Given the description of an element on the screen output the (x, y) to click on. 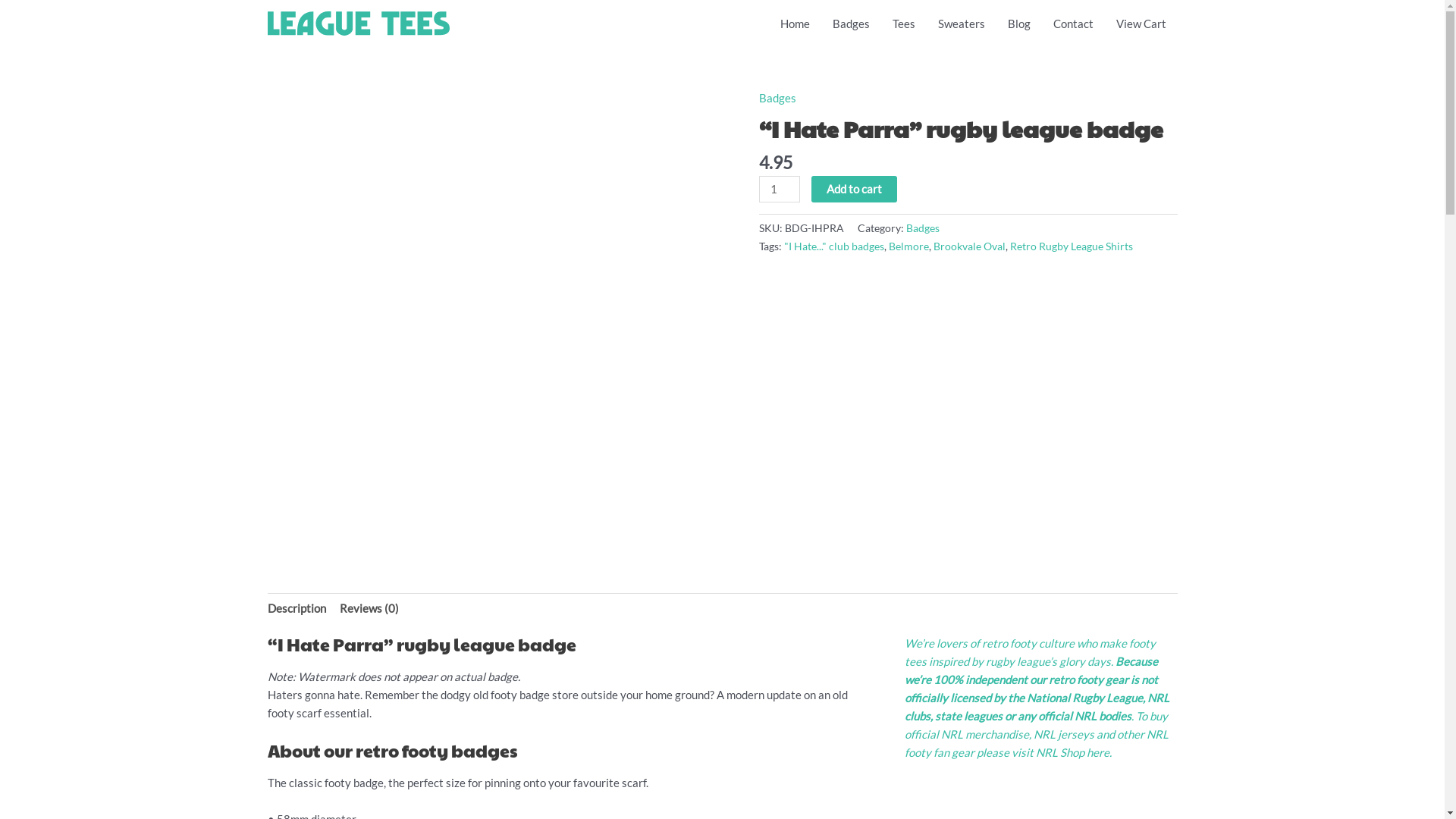
Badges Element type: text (921, 228)
Brookvale Oval Element type: text (968, 246)
Retro Rugby League Shirts Element type: text (1071, 246)
Sweaters Element type: text (961, 23)
Add to cart Element type: text (854, 188)
here Element type: text (1096, 752)
"I Hate..." club badges Element type: text (834, 246)
Home Element type: text (794, 23)
View Cart Element type: text (1140, 23)
Badges Element type: text (850, 23)
Reviews (0) Element type: text (368, 607)
Blog Element type: text (1018, 23)
Belmore Element type: text (908, 246)
Contact Element type: text (1072, 23)
Badges Element type: text (776, 97)
Description Element type: text (295, 607)
Tees Element type: text (903, 23)
